Given the description of an element on the screen output the (x, y) to click on. 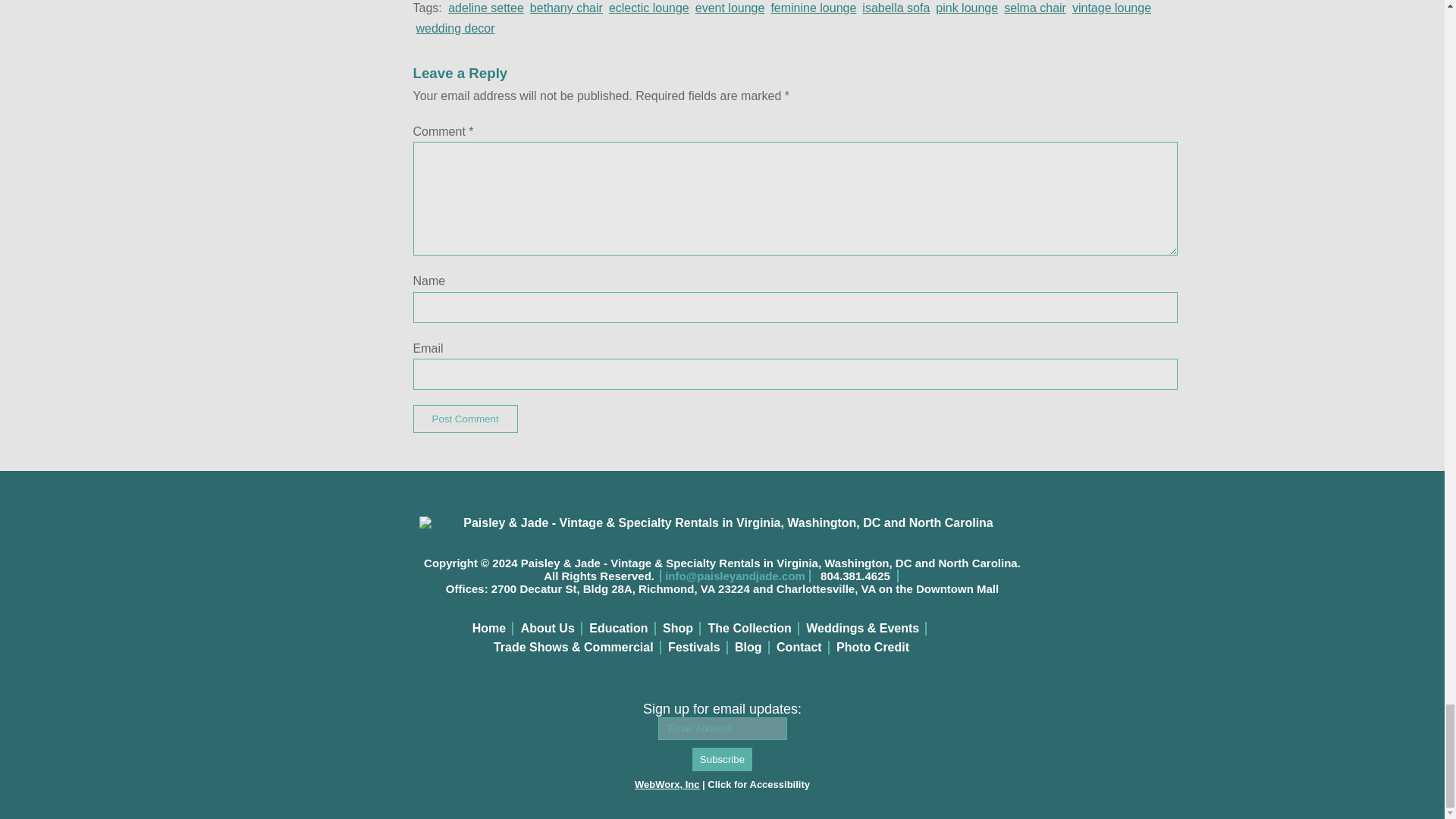
Post Comment (464, 418)
Subscribe (722, 759)
